Given the description of an element on the screen output the (x, y) to click on. 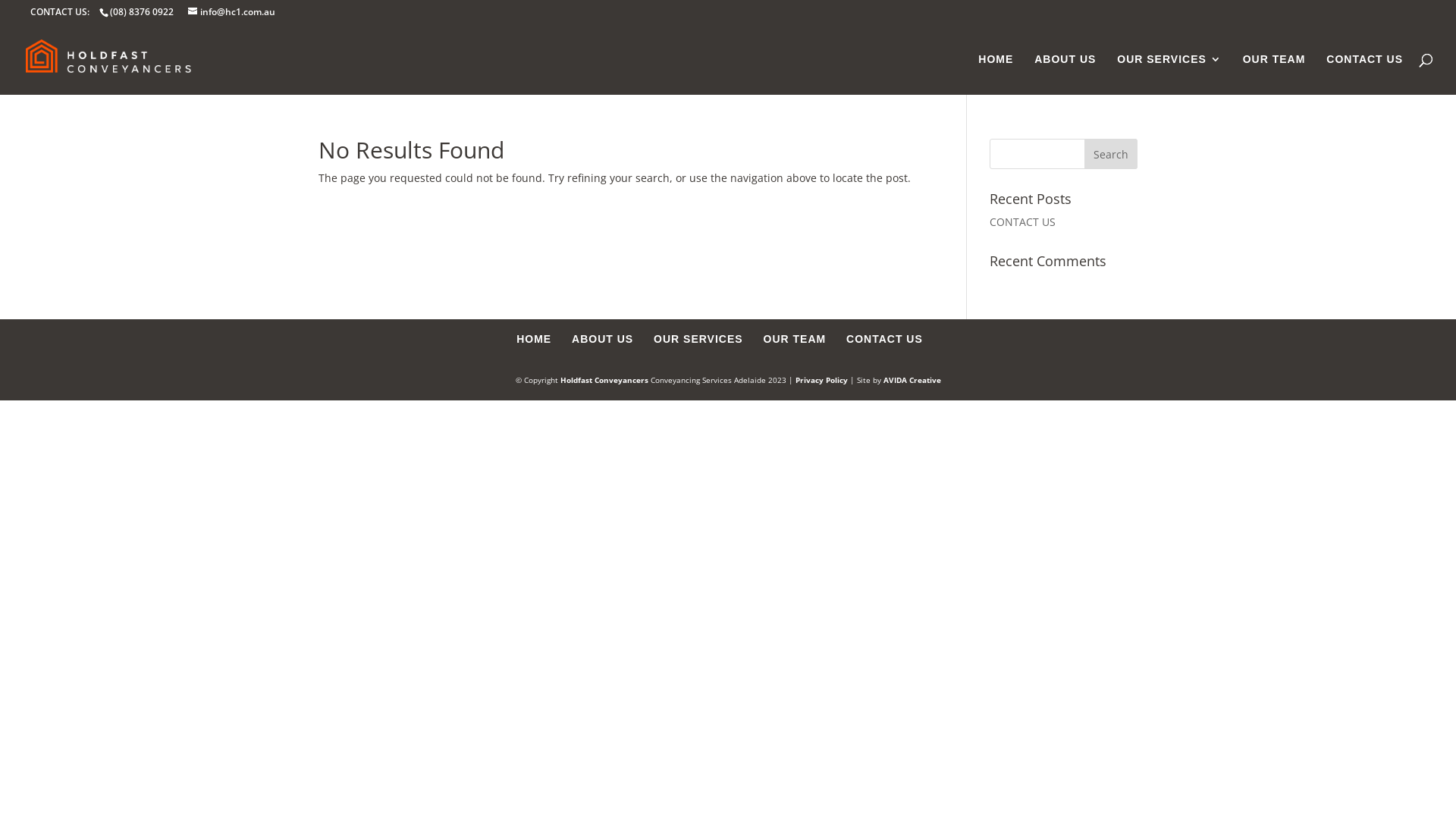
HOME Element type: text (995, 73)
(08) 8376 0922  Element type: text (142, 11)
AVIDA Creative Element type: text (911, 379)
OUR SERVICES Element type: text (1169, 73)
OUR TEAM Element type: text (1273, 73)
info@hc1.com.au Element type: text (231, 11)
ABOUT US Element type: text (602, 338)
Search Element type: text (1110, 153)
HOME Element type: text (533, 338)
CONTACT US Element type: text (884, 338)
OUR TEAM Element type: text (794, 338)
CONTACT US Element type: text (1364, 73)
CONTACT US Element type: text (1022, 221)
Privacy Policy Element type: text (820, 379)
OUR SERVICES Element type: text (698, 338)
ABOUT US Element type: text (1064, 73)
